Given the description of an element on the screen output the (x, y) to click on. 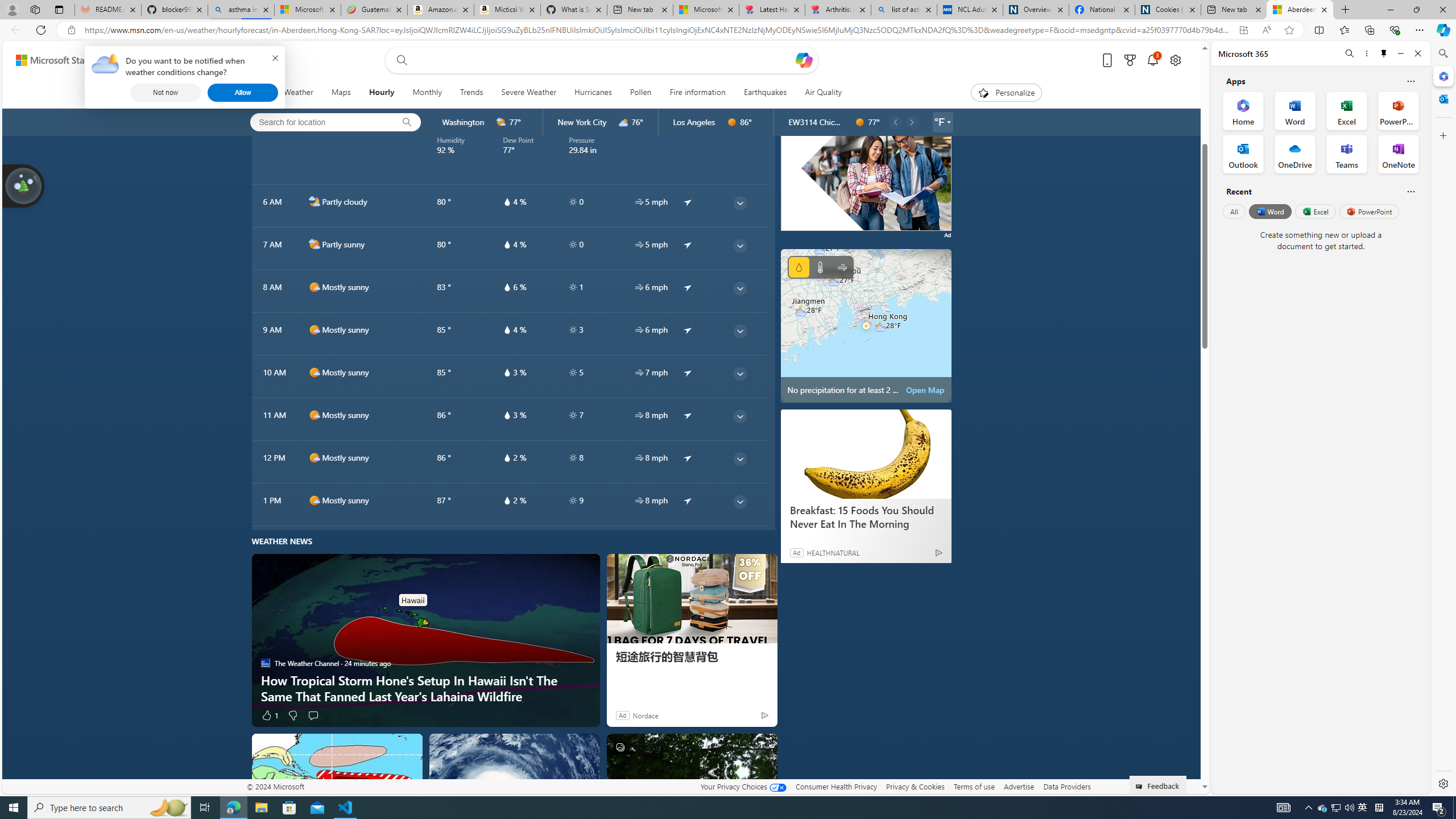
Class: qc-adchoices-link top-right  (945, 92)
HEALTHNATURAL (832, 552)
Not now (164, 92)
Word (1269, 210)
common/arrow (687, 500)
hourlyTable/uv (572, 500)
asthma inhaler - Search (240, 9)
